Given the description of an element on the screen output the (x, y) to click on. 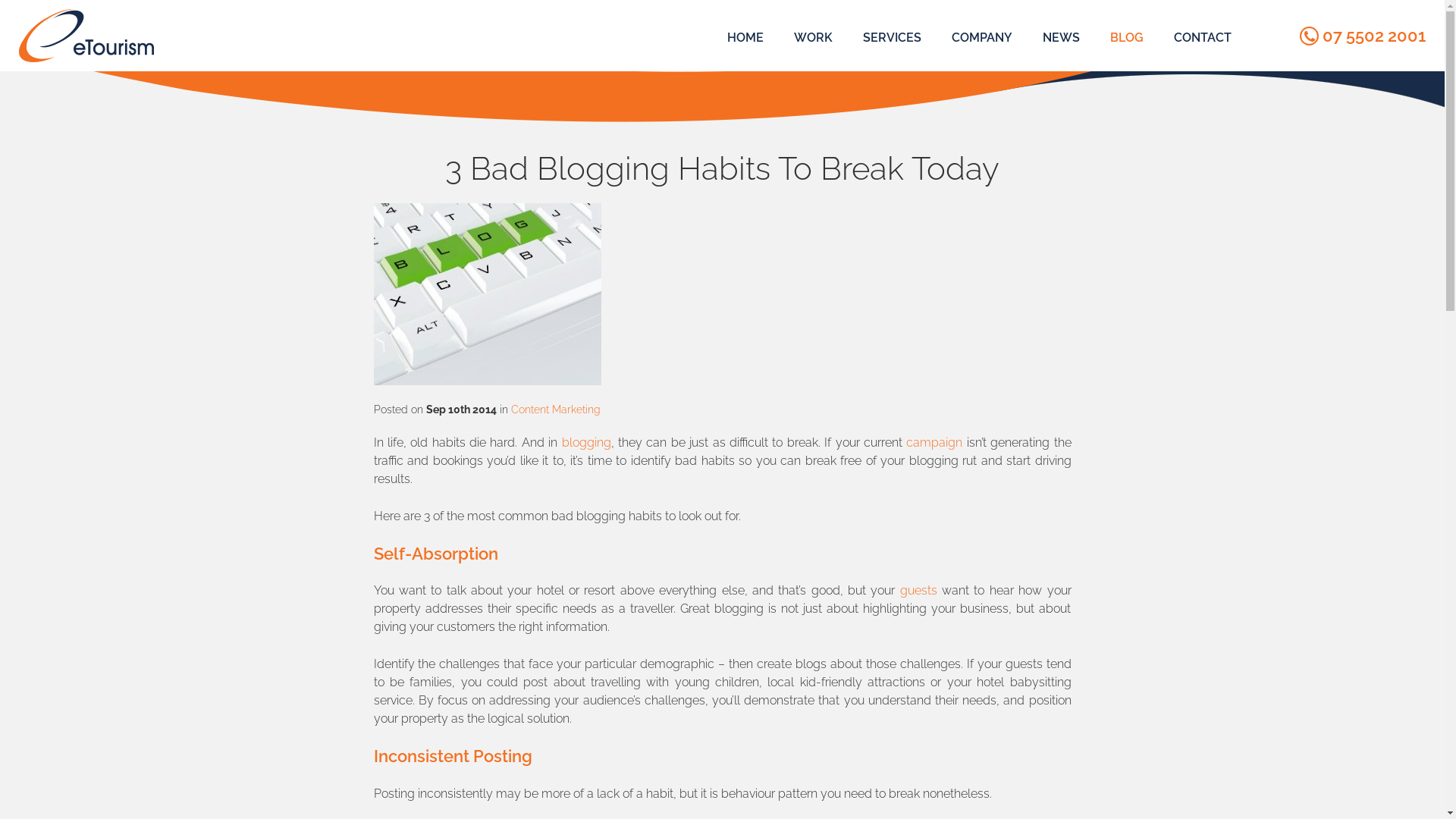
Content Marketing Element type: text (555, 409)
BLOG Element type: text (1126, 37)
HOME Element type: text (745, 37)
SERVICES Element type: text (891, 37)
campaign Element type: text (934, 442)
WORK Element type: text (812, 37)
COMPANY Element type: text (981, 37)
guests Element type: text (918, 590)
blogging Element type: text (586, 442)
CONTACT Element type: text (1202, 37)
NEWS Element type: text (1061, 37)
3 Bad Blogging Habits To Break Today Element type: hover (486, 294)
